Given the description of an element on the screen output the (x, y) to click on. 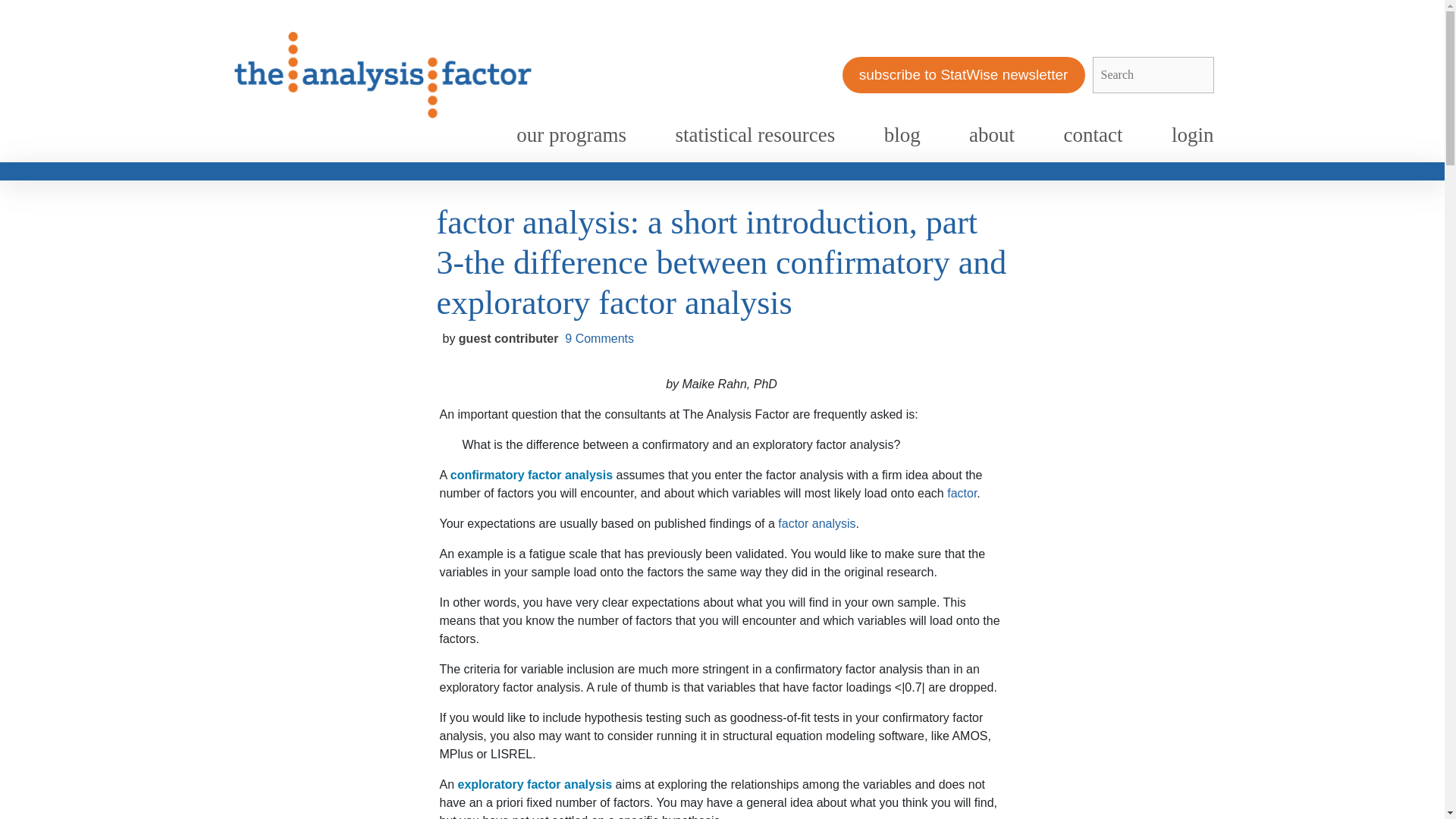
login (1192, 134)
about (991, 134)
statistical resources (754, 134)
factor (961, 492)
blog (902, 134)
subscribe to StatWise newsletter (962, 75)
factor analysis (816, 522)
9 Comments (598, 338)
Go to Home page (382, 74)
our programs (571, 134)
